Given the description of an element on the screen output the (x, y) to click on. 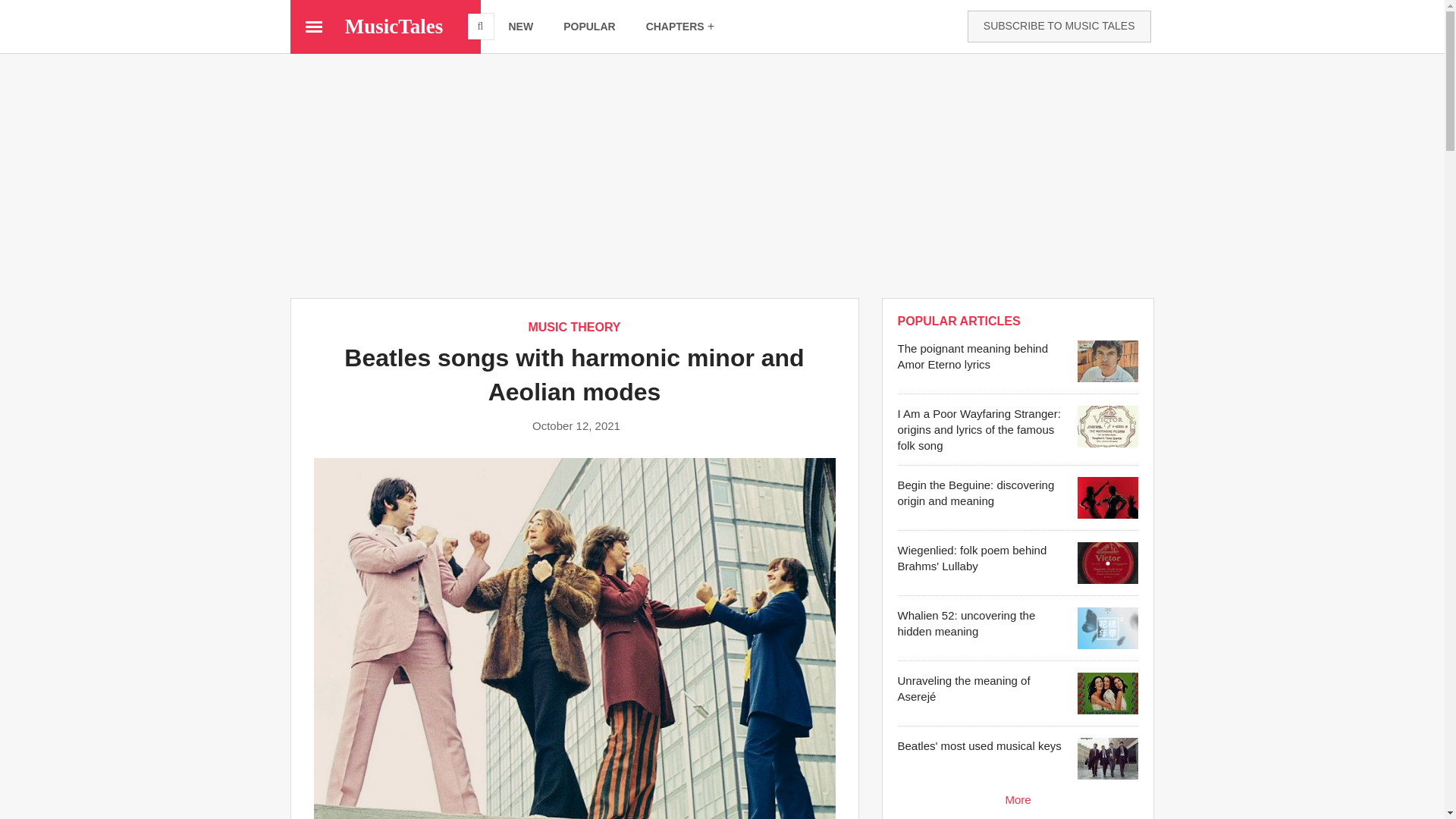
NEW (520, 26)
CHAPTERS (680, 26)
SUBSCRIBE TO MUSIC TALES (1059, 26)
MusicTales (392, 26)
POPULAR (589, 26)
